Given the description of an element on the screen output the (x, y) to click on. 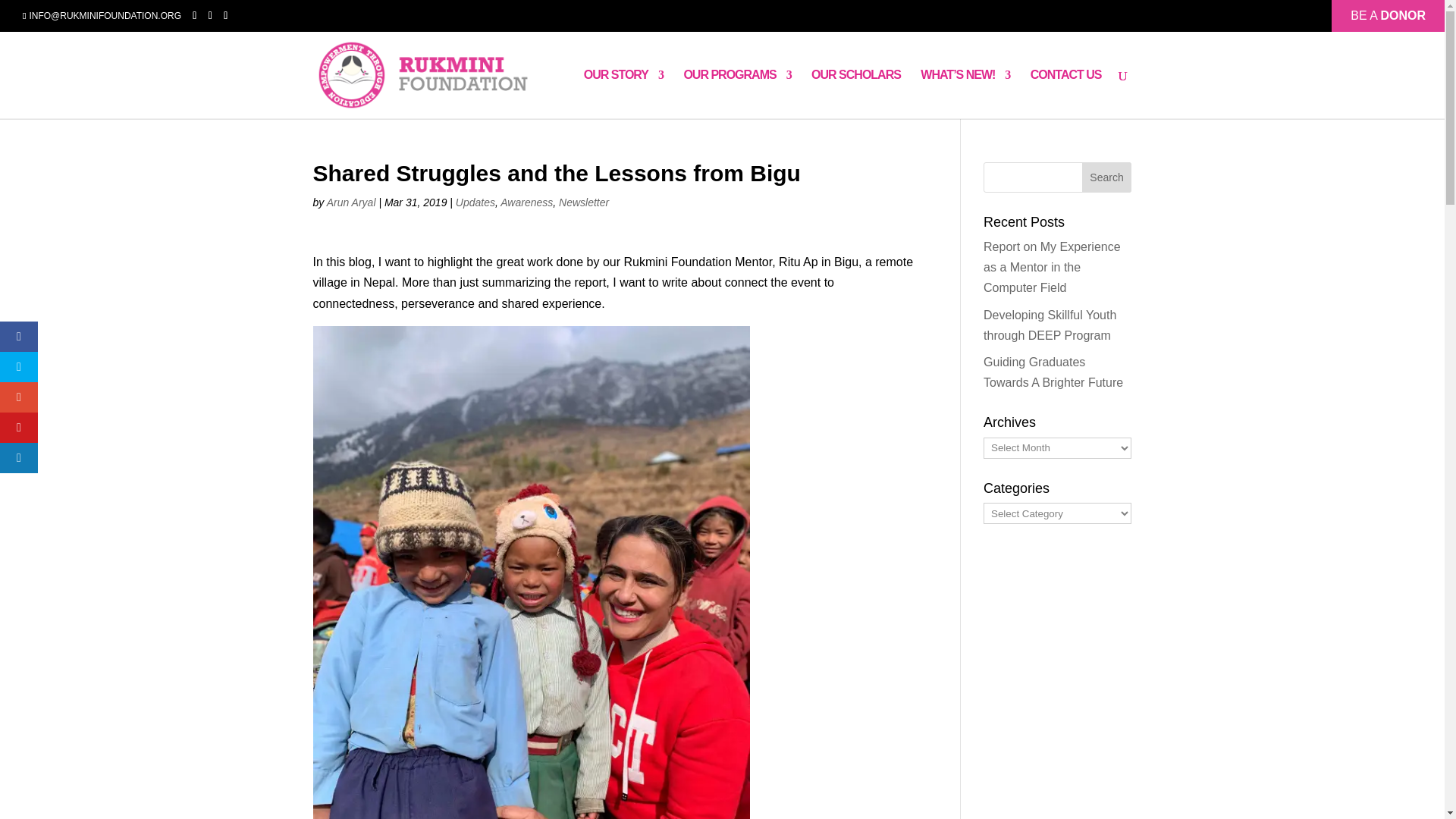
Posts by Arun Aryal (350, 202)
OUR PROGRAMS (736, 93)
BE A DONOR (1388, 10)
OUR SCHOLARS (855, 93)
Search (1106, 177)
CONTACT US (1066, 93)
OUR STORY (623, 93)
